Given the description of an element on the screen output the (x, y) to click on. 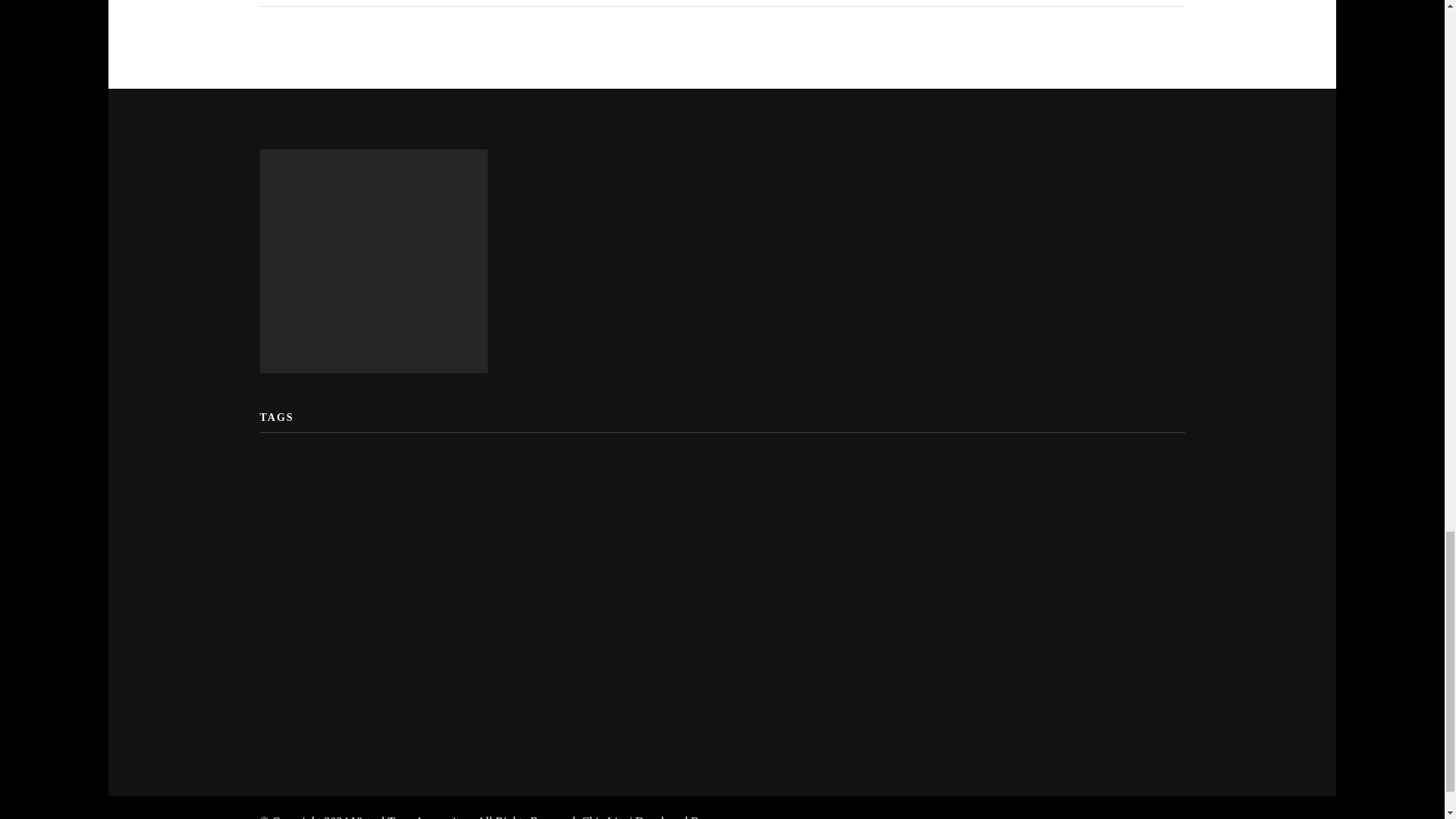
IRP6 (1078, 546)
AUDITS (720, 464)
CIPC (1042, 464)
EFILING (858, 505)
FINANCIAL STATEMENTS (601, 546)
IRP5 (1018, 546)
PAYE (664, 587)
EMP501 (940, 505)
COIDA (1110, 464)
FILING SEASON (319, 546)
ANNUAL FINANCIAL STATEMENTS (490, 464)
COMPANY REGISTRATION (533, 505)
COMPANY AMENDMENTS (347, 505)
HOME OFFICE EXPENSES (785, 546)
FINAL DEMAND (446, 546)
